Given the description of an element on the screen output the (x, y) to click on. 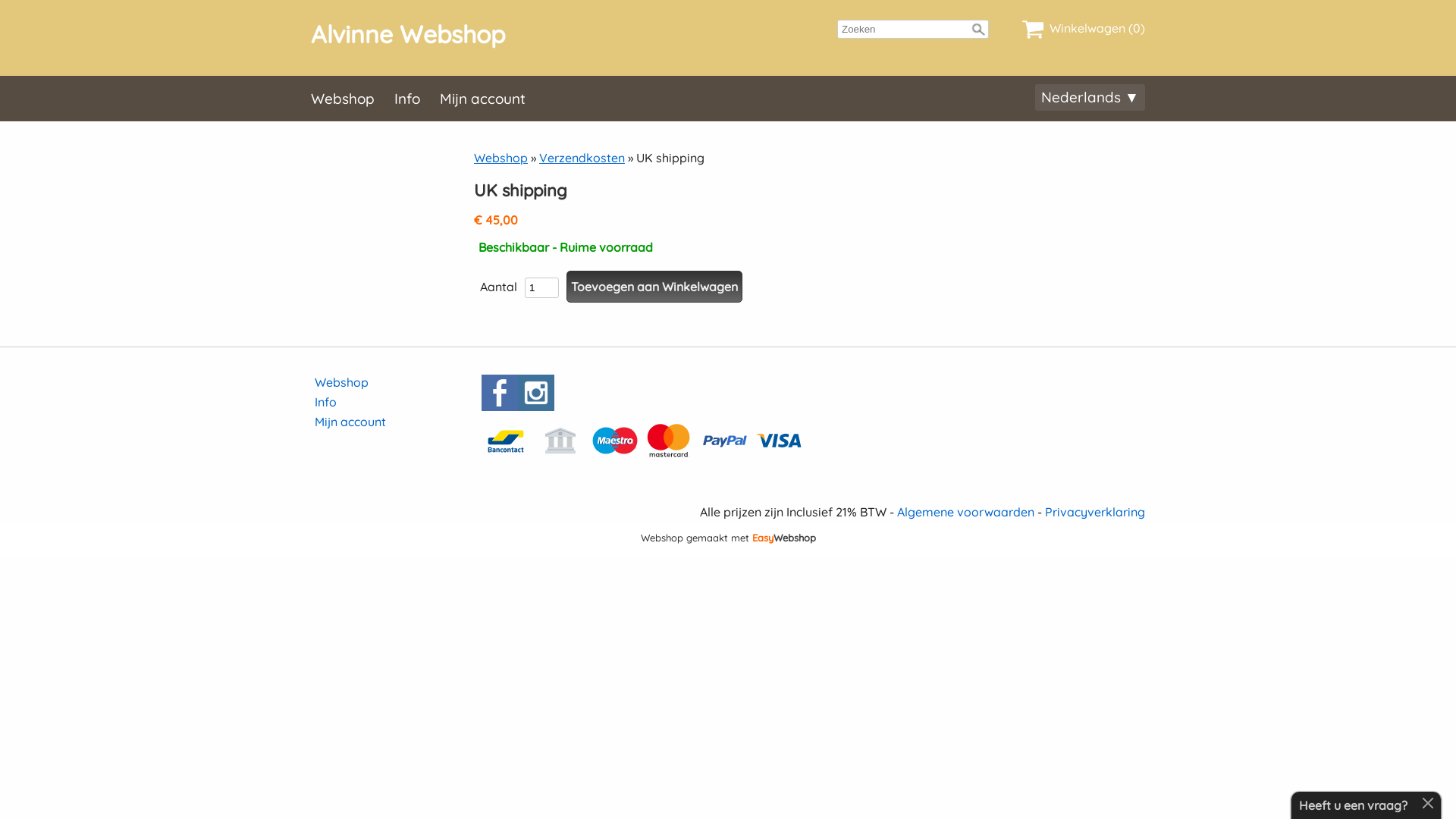
Info Element type: text (416, 98)
Toevoegen aan Winkelwagen Element type: text (654, 286)
Heeft u een vraag? Element type: text (1353, 804)
Webshop Element type: text (341, 382)
WinkelwagenWinkelwagen (0) Element type: text (1083, 29)
Webshop gemaakt met EasyWebshop Element type: text (727, 539)
Webshop Element type: text (352, 98)
Verzendkosten Element type: text (581, 157)
Info Element type: text (325, 401)
Webshop Element type: text (500, 157)
Mijn account Element type: text (492, 98)
Privacyverklaring Element type: text (1094, 511)
Algemene voorwaarden Element type: text (965, 511)
Mijn account Element type: text (349, 421)
